Given the description of an element on the screen output the (x, y) to click on. 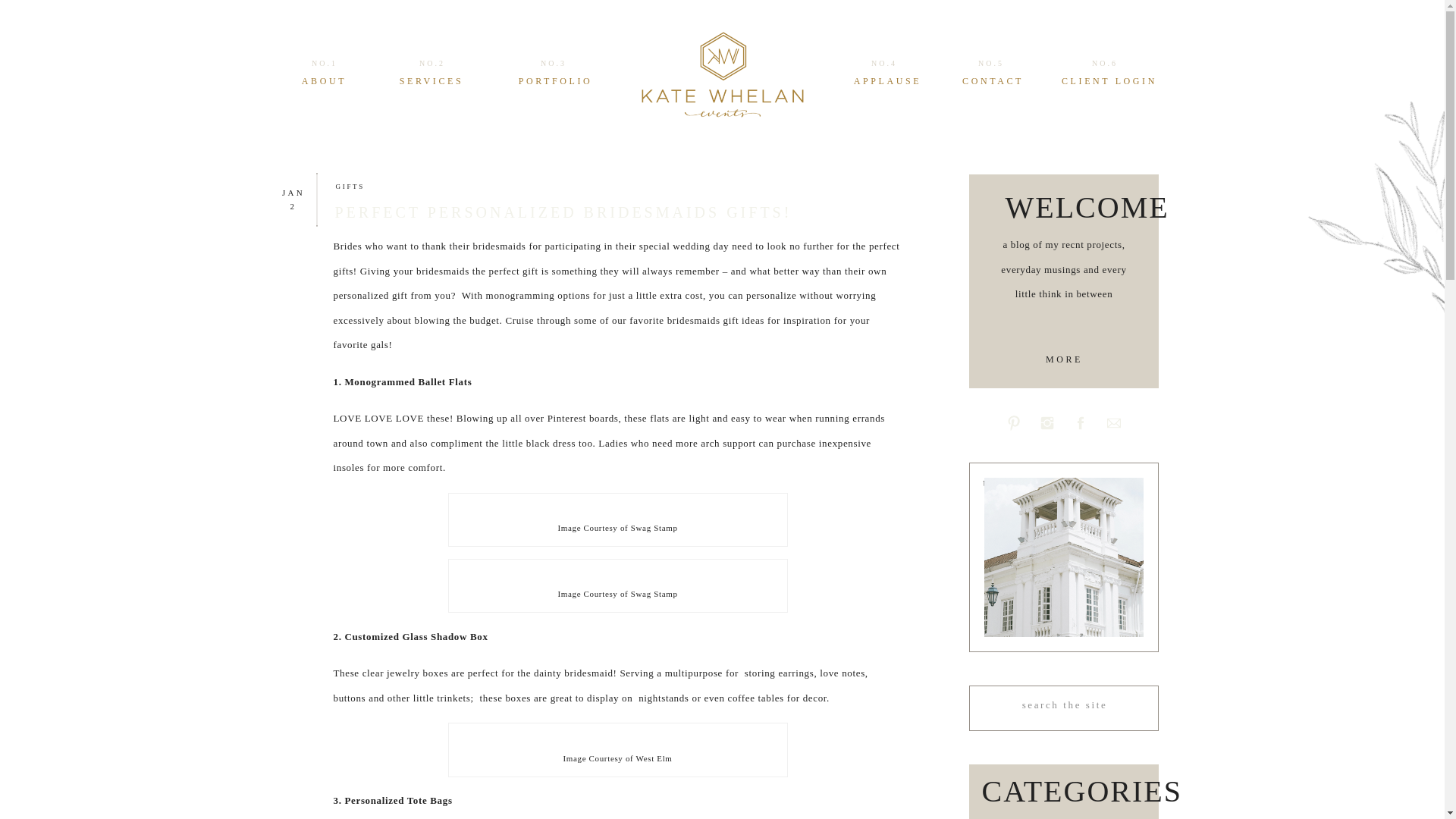
CONTACT (992, 81)
SERVICES (430, 80)
NO.3 (553, 63)
NO.2 (432, 63)
ABOUT (323, 80)
NO.6 (1104, 63)
APPLAUSE (887, 80)
PORTFOLIO (555, 80)
CLIENT LOGIN (1108, 80)
NO.4 (885, 63)
NO.5 (989, 63)
